Given the description of an element on the screen output the (x, y) to click on. 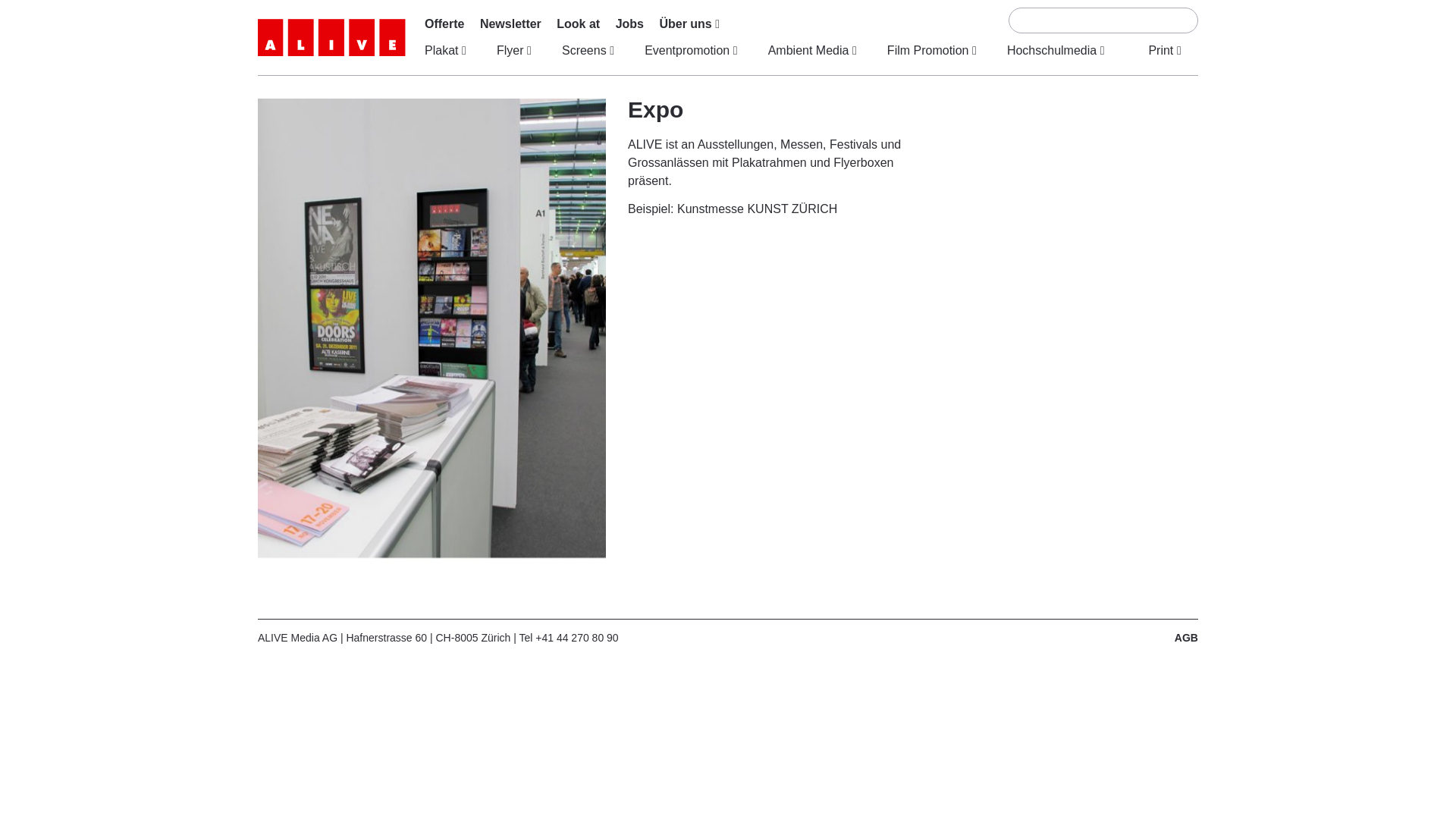
AGB Element type: text (1186, 637)
Suchen Element type: text (1171, 16)
Jobs Element type: text (629, 23)
Offerte Element type: text (447, 23)
Look at Element type: text (578, 23)
Newsletter Element type: text (510, 23)
